Given the description of an element on the screen output the (x, y) to click on. 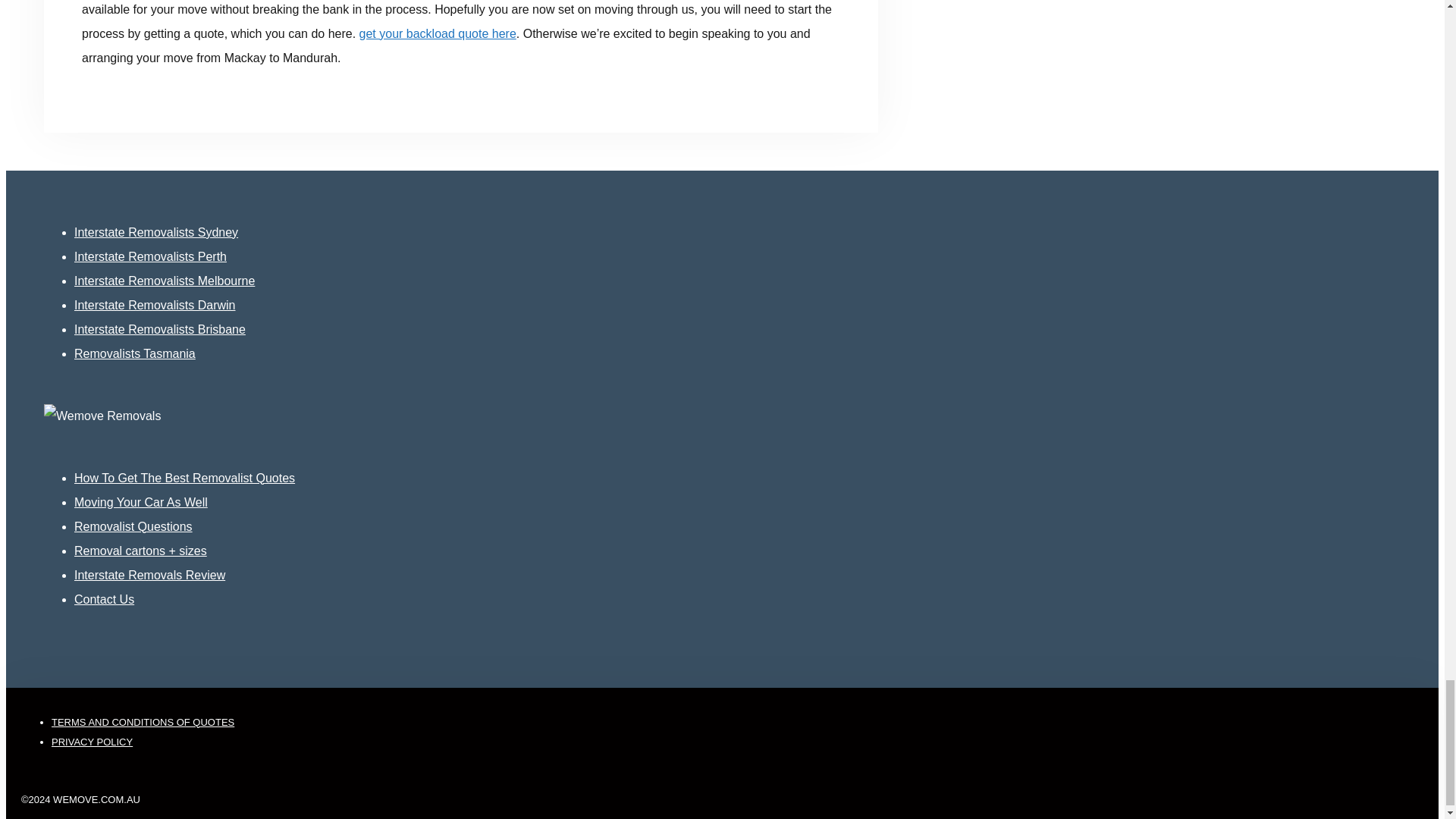
Interstate Removalists Darwin (154, 305)
Interstate Removals Review (149, 574)
Interstate Removalists Melbourne (164, 280)
get your backload quote here (437, 33)
Interstate Removalists Perth (150, 256)
Moving Your Car As Well (141, 502)
PRIVACY POLICY (91, 741)
Interstate Removalists Sydney (156, 232)
Contact Us (103, 599)
Interstate Removalists Brisbane (160, 328)
